Given the description of an element on the screen output the (x, y) to click on. 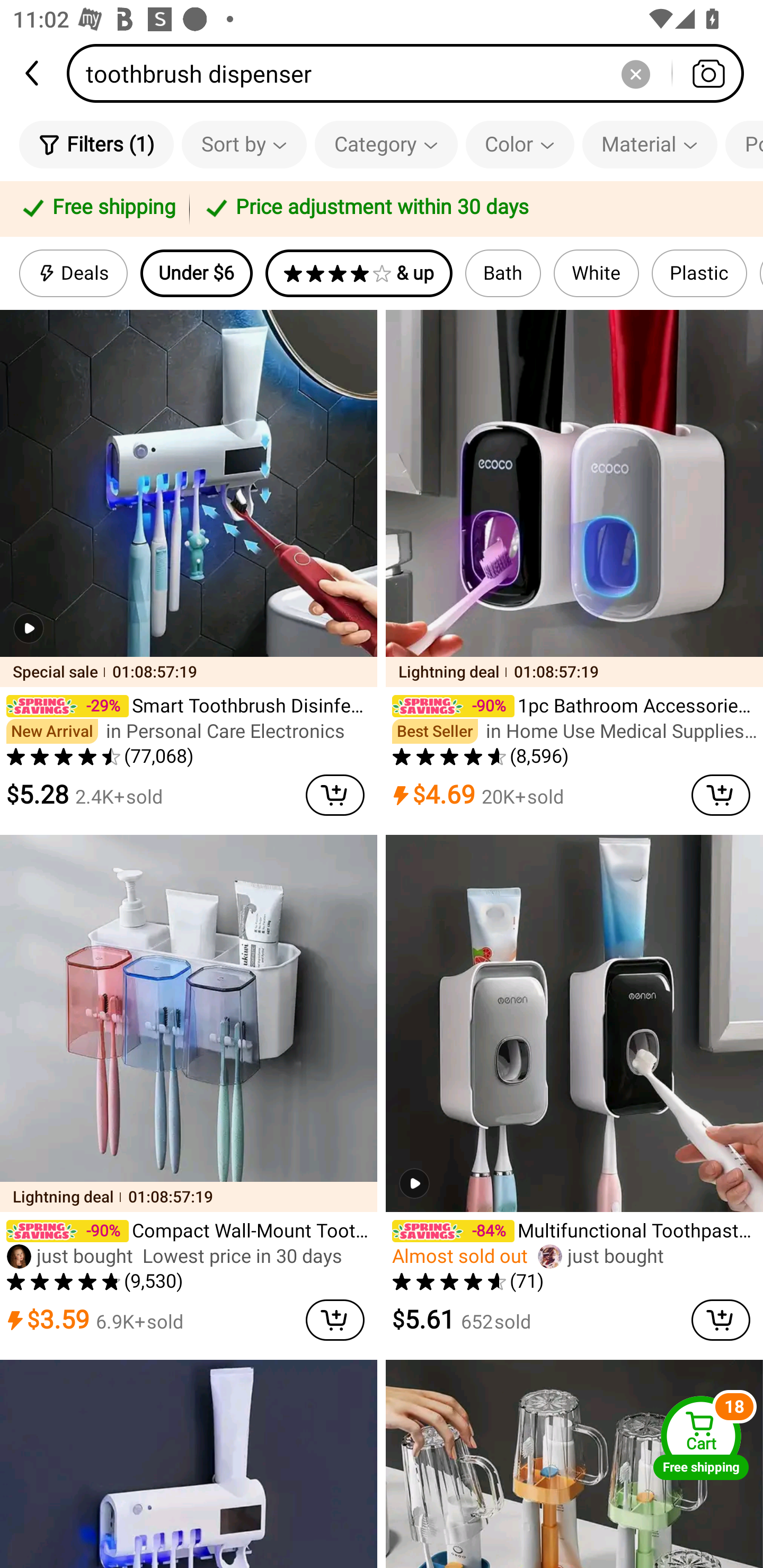
back (33, 72)
toothbrush dispenser (411, 73)
Delete search history (635, 73)
Search by photo (708, 73)
Filters (1) (96, 143)
Sort by (243, 143)
Category (385, 143)
Color (519, 143)
Material (649, 143)
Free shipping (97, 208)
Price adjustment within 30 days (472, 208)
Deals (73, 273)
Under $6 (196, 273)
& up (358, 273)
Bath (502, 273)
White (596, 273)
Plastic (698, 273)
cart delete (334, 794)
cart delete (720, 794)
cart delete (334, 1319)
cart delete (720, 1319)
Cart Free shipping Cart (701, 1437)
